Given the description of an element on the screen output the (x, y) to click on. 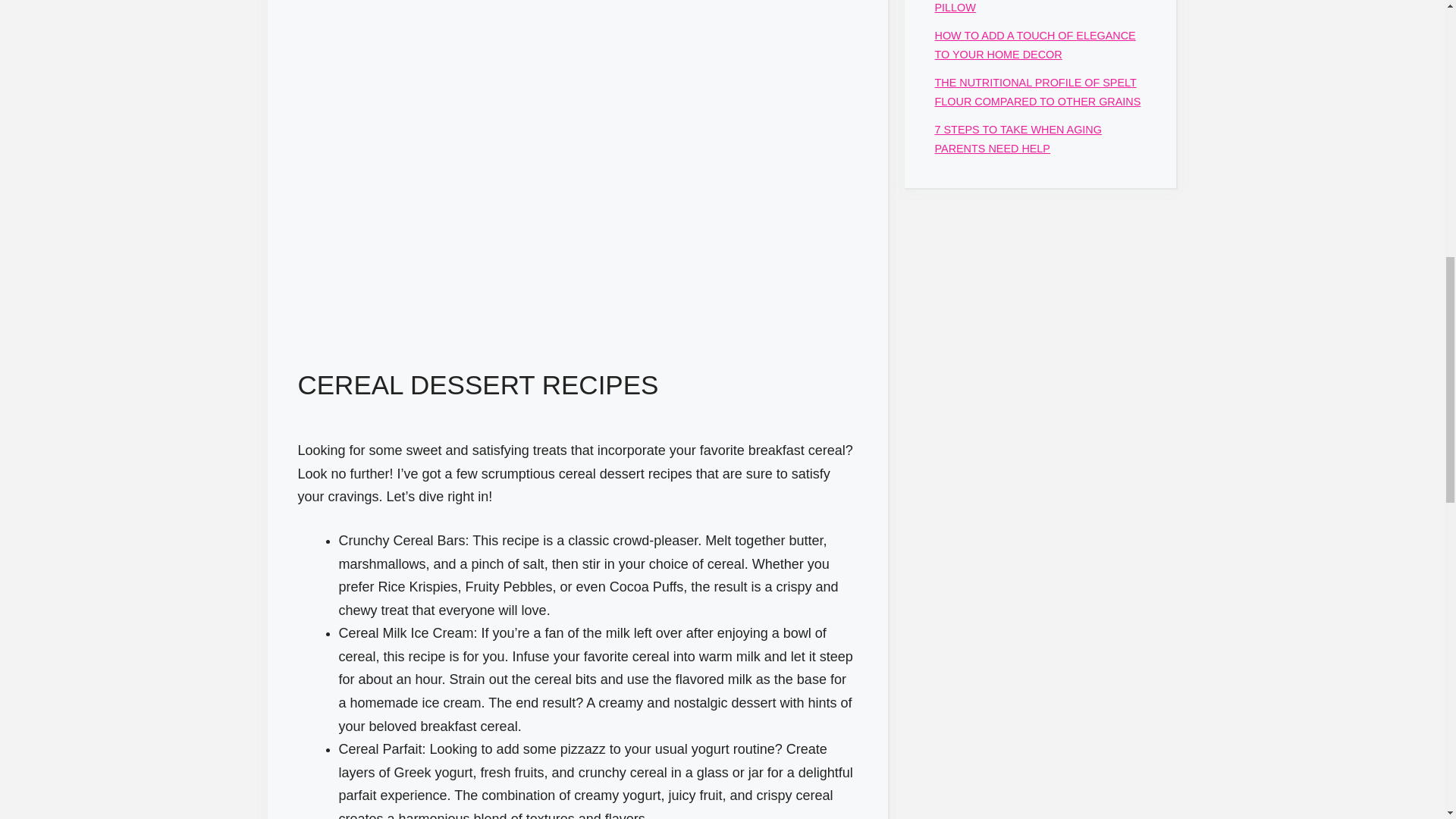
7 STEPS TO TAKE WHEN AGING PARENTS NEED HELP (1017, 138)
HOW TO ADD A TOUCH OF ELEGANCE TO YOUR HOME DECOR (1034, 44)
Scroll back to top (1406, 720)
BENEFITS OF USING A PREGNANCY PILLOW (1029, 6)
